Given the description of an element on the screen output the (x, y) to click on. 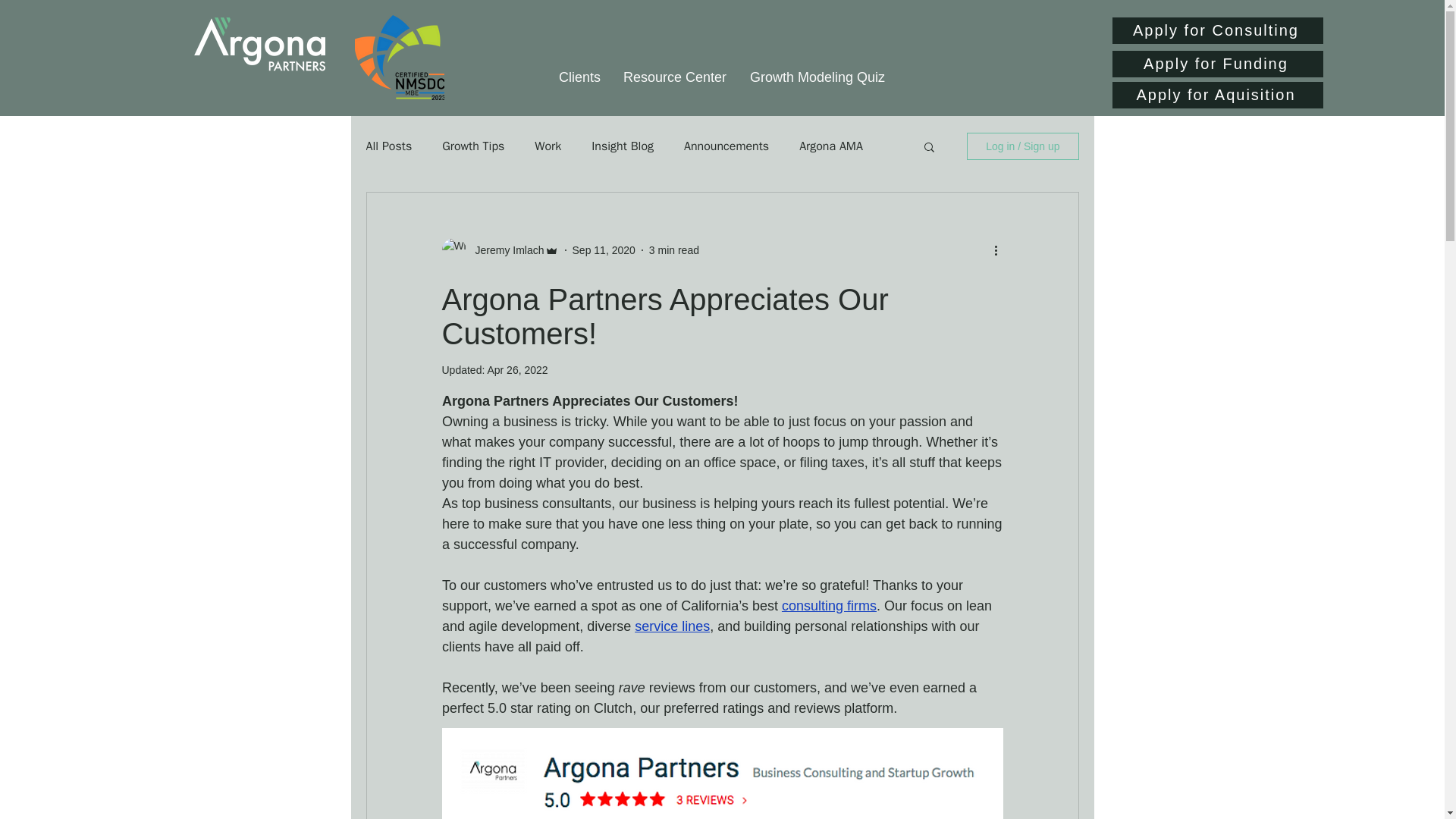
Growth Tips (472, 145)
Resource Center (674, 77)
consulting firms (828, 605)
Sep 11, 2020 (603, 250)
Clients (579, 77)
Apr 26, 2022 (516, 369)
Jeremy Imlach (504, 250)
Apply for Funding (1217, 63)
3 min read (673, 250)
Announcements (726, 145)
Insight Blog (622, 145)
Apply for Aquisition (1217, 94)
All Posts (388, 145)
Work (547, 145)
service lines (672, 626)
